Given the description of an element on the screen output the (x, y) to click on. 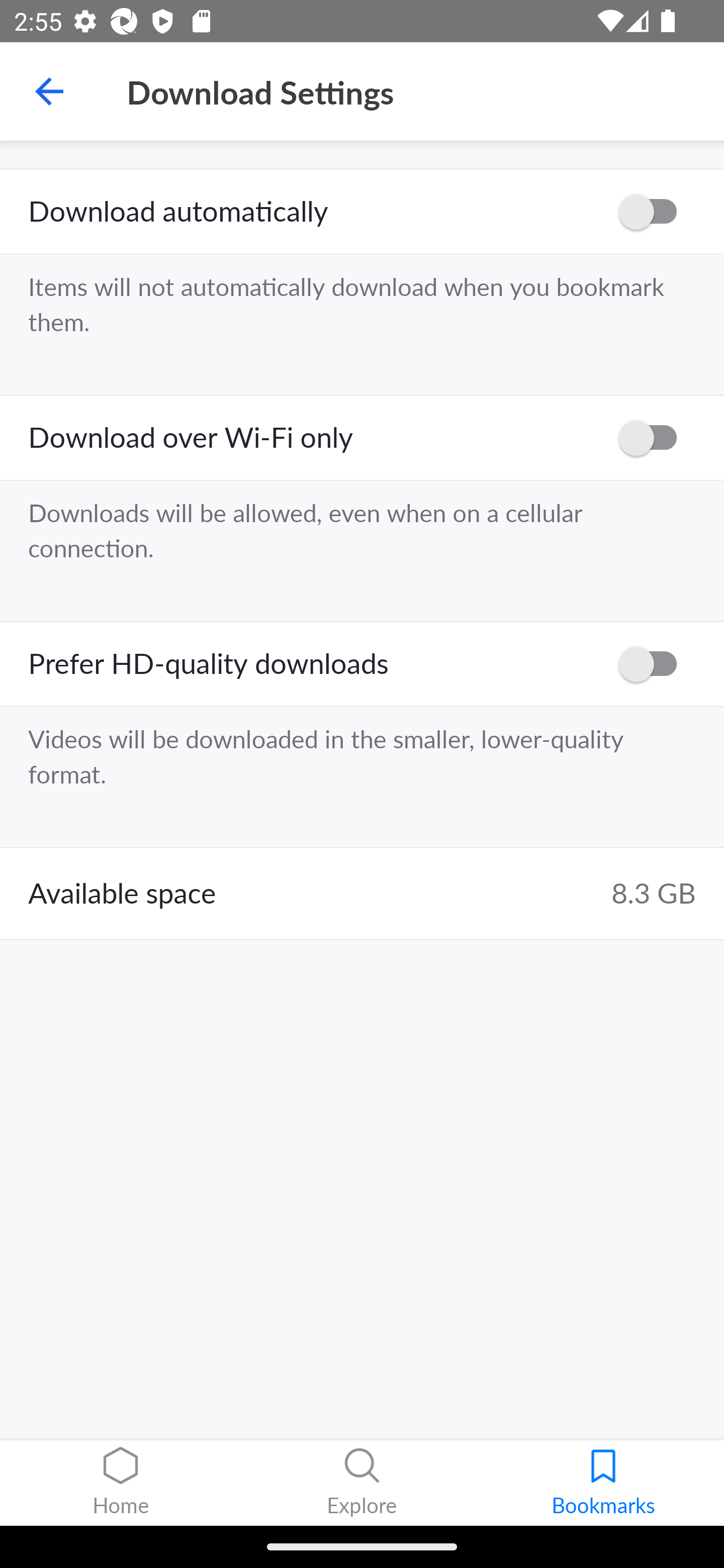
Navigate up (49, 91)
OFF (653, 211)
OFF (653, 437)
OFF (653, 663)
Home (120, 1482)
Explore (361, 1482)
Bookmarks (603, 1482)
